Given the description of an element on the screen output the (x, y) to click on. 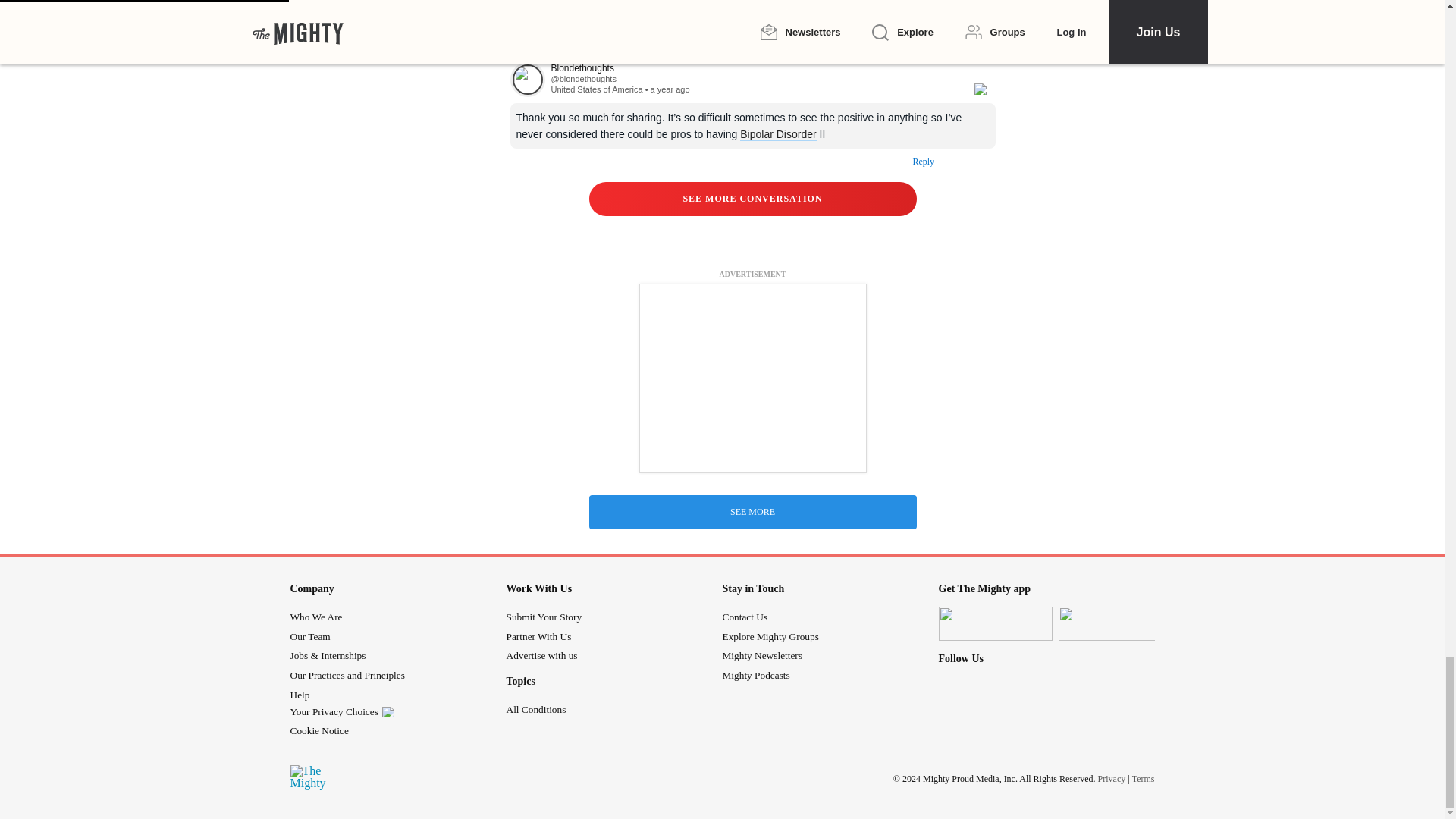
View their profile (526, 79)
Bipolar Disorder (777, 133)
View their profile (754, 68)
View their profile (582, 78)
